Given the description of an element on the screen output the (x, y) to click on. 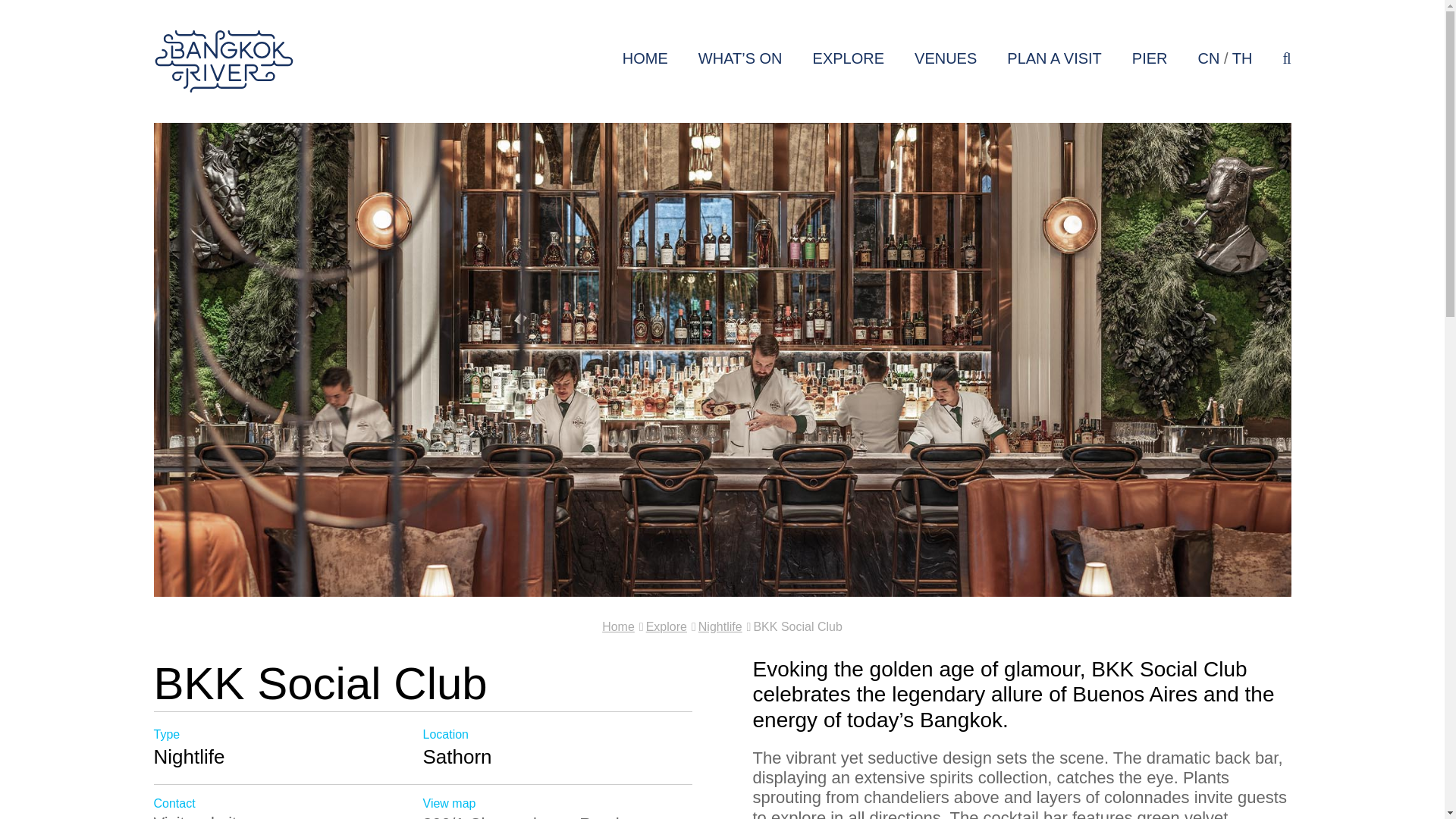
Bangkok River (223, 61)
Explore (666, 626)
CN (1209, 57)
EXPLORE (847, 57)
Home (618, 626)
Sathorn (457, 756)
PIER (1149, 57)
Visit website (287, 816)
TH (1241, 57)
Nightlife (720, 626)
HOME (645, 57)
Nightlife (188, 756)
VENUES (945, 57)
BKK Social Club (796, 626)
PLAN A VISIT (1054, 57)
